Given the description of an element on the screen output the (x, y) to click on. 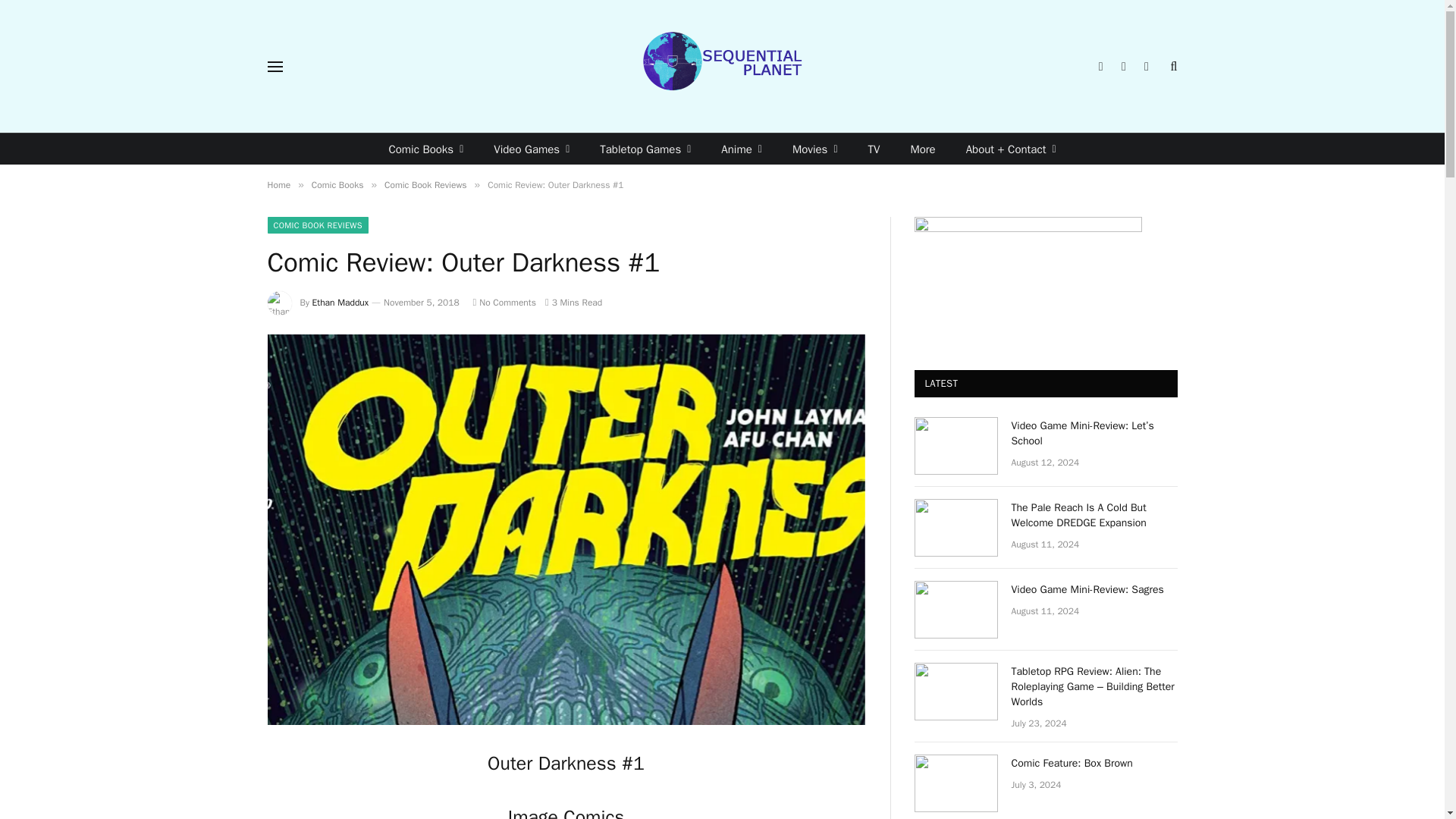
Tabletop Games (645, 148)
TV (873, 148)
Comic Books (425, 148)
Sequential Planet (721, 66)
Movies (815, 148)
Posts by Ethan Maddux (341, 302)
Anime (741, 148)
More (922, 148)
Home (277, 184)
Video Games (532, 148)
